Given the description of an element on the screen output the (x, y) to click on. 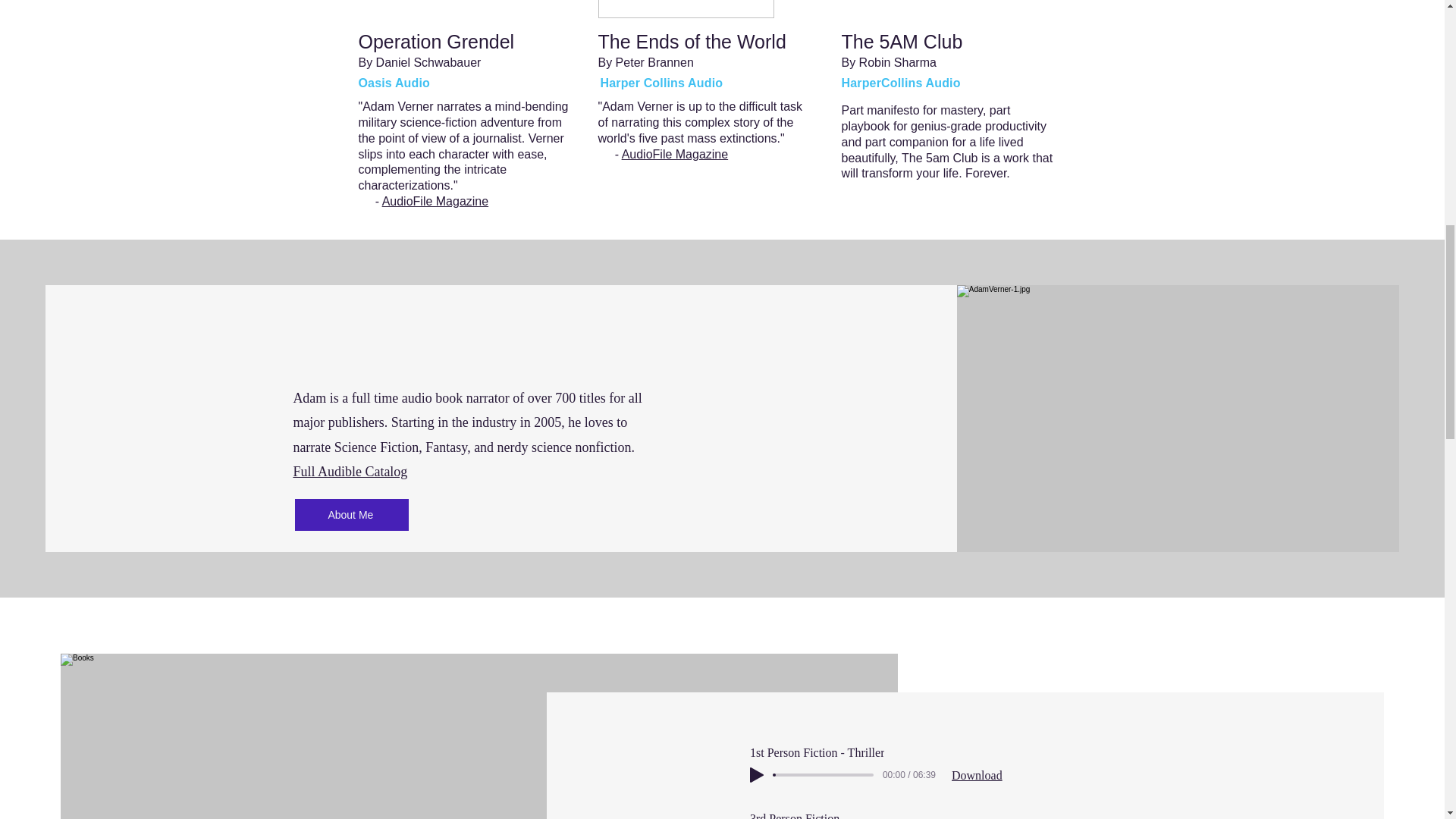
0 (823, 774)
About Me (352, 514)
AudioFile Magazine (675, 154)
AudioFile Magazine (435, 201)
Full Audible Catalog (349, 471)
Download (977, 775)
